Given the description of an element on the screen output the (x, y) to click on. 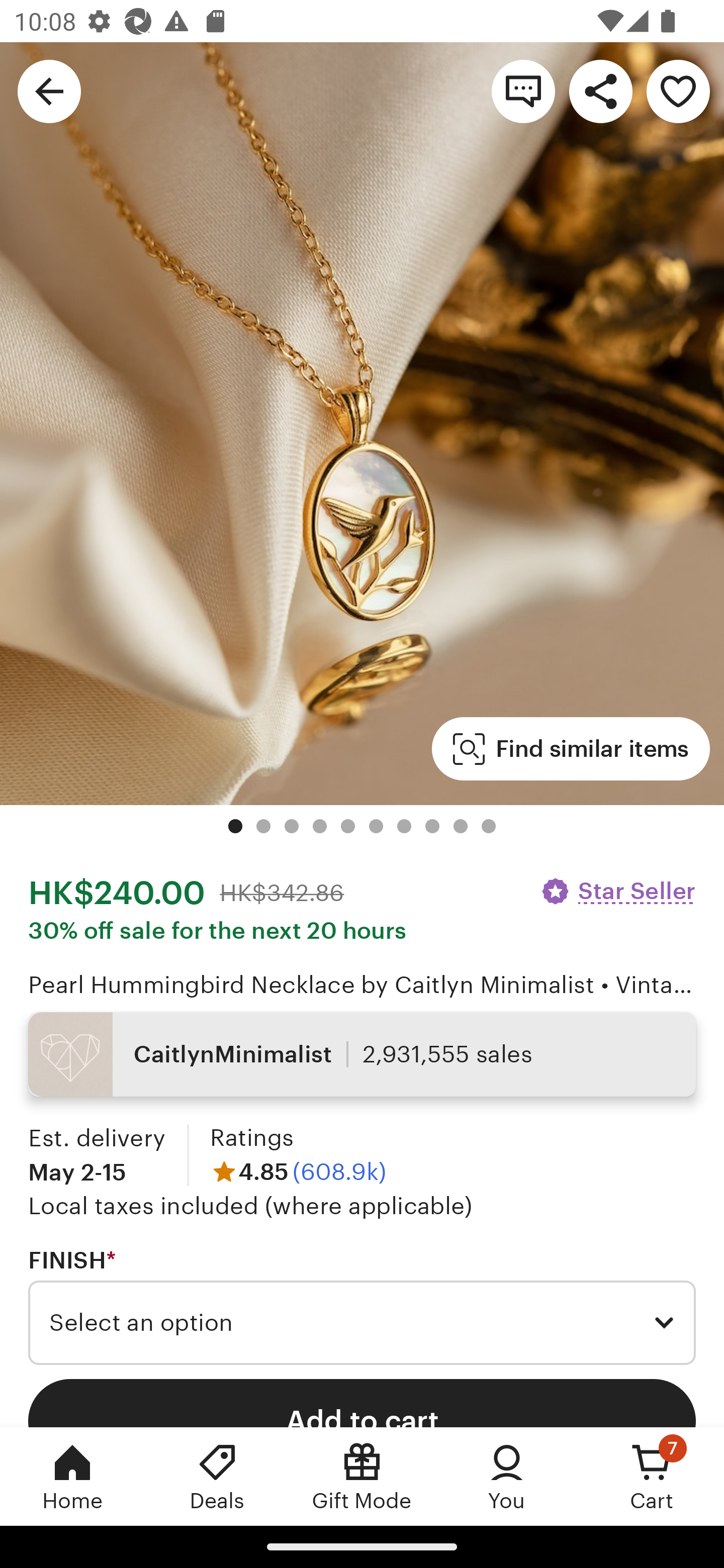
Navigate up (49, 90)
Contact shop (523, 90)
Share (600, 90)
Find similar items (571, 748)
Star Seller (617, 890)
CaitlynMinimalist 2,931,555 sales (361, 1054)
Ratings (251, 1137)
4.85 (608.9k) (297, 1171)
FINISH * Required Select an option (361, 1306)
Select an option (361, 1323)
Add to cart (361, 1402)
Deals (216, 1475)
Gift Mode (361, 1475)
You (506, 1475)
Cart, 7 new notifications Cart (651, 1475)
